Given the description of an element on the screen output the (x, y) to click on. 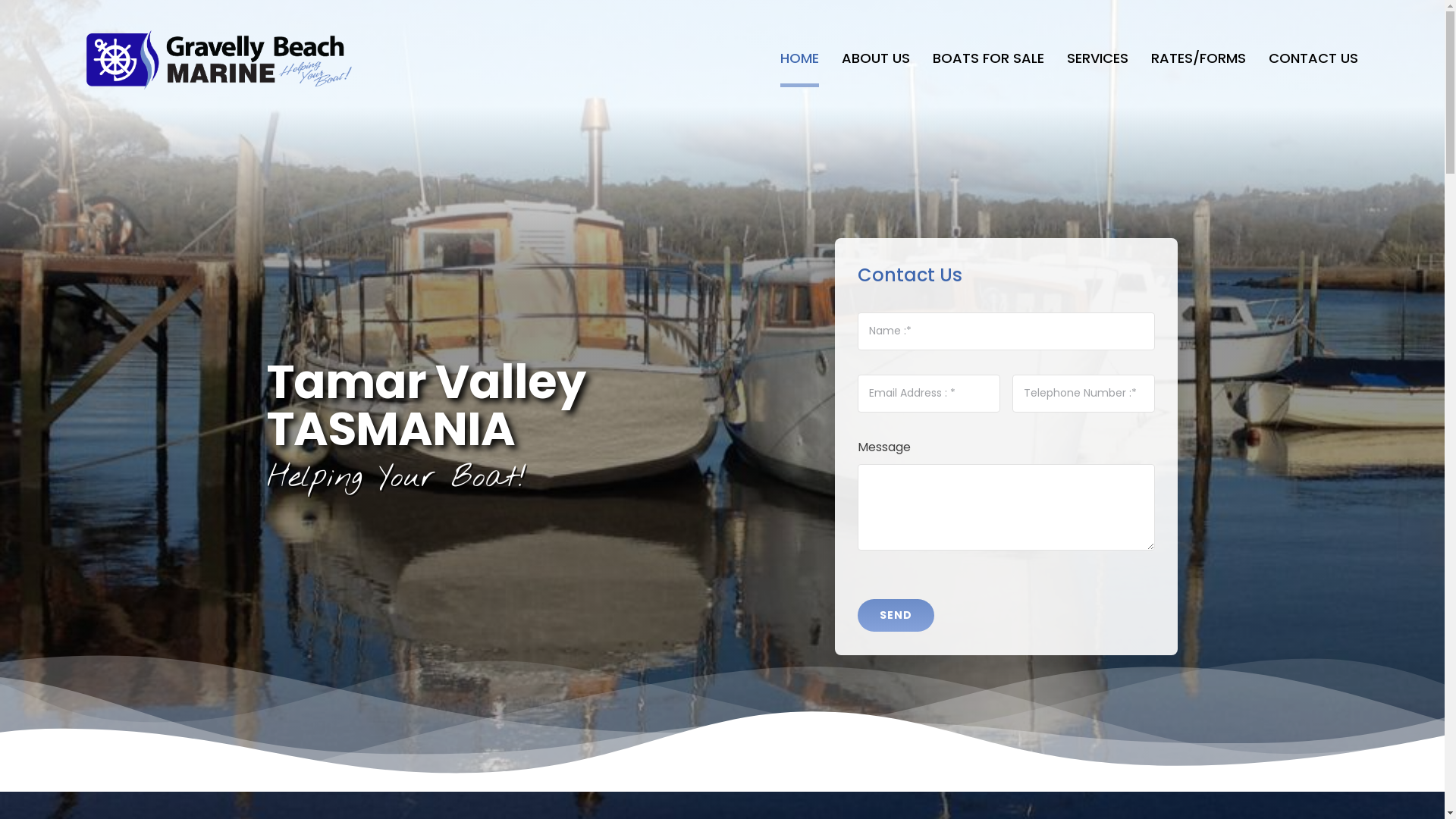
HOME Element type: text (799, 59)
BOATS FOR SALE Element type: text (988, 59)
SEND Element type: text (895, 615)
CONTACT US Element type: text (1313, 59)
RATES/FORMS Element type: text (1198, 59)
SERVICES Element type: text (1097, 59)
ABOUT US Element type: text (875, 59)
